Given the description of an element on the screen output the (x, y) to click on. 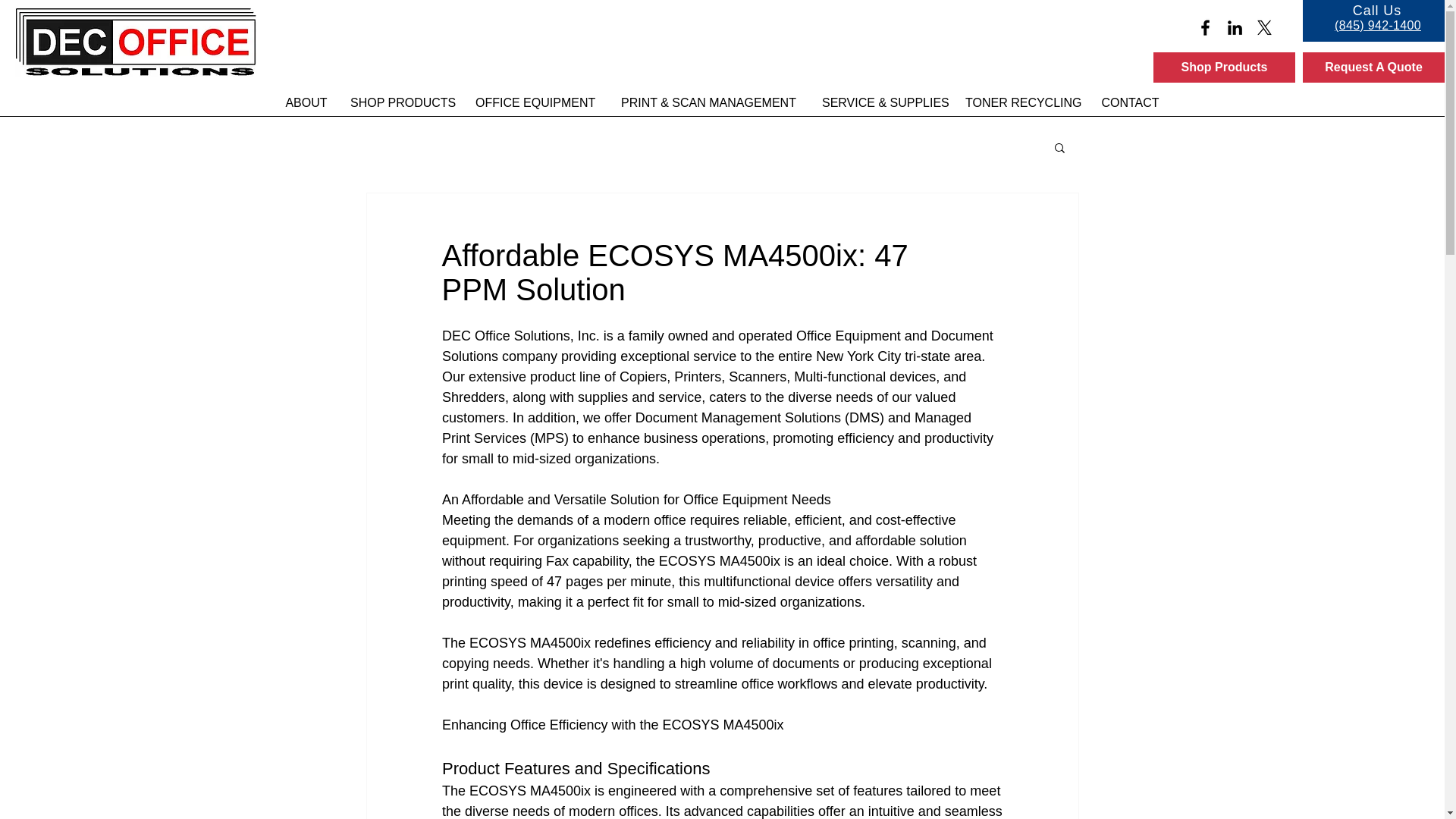
OFFICE EQUIPMENT (535, 102)
Shop Products (1224, 67)
CONTACT (1129, 102)
TONER RECYCLING (1021, 102)
SHOP PRODUCTS (401, 102)
ABOUT (306, 102)
